Given the description of an element on the screen output the (x, y) to click on. 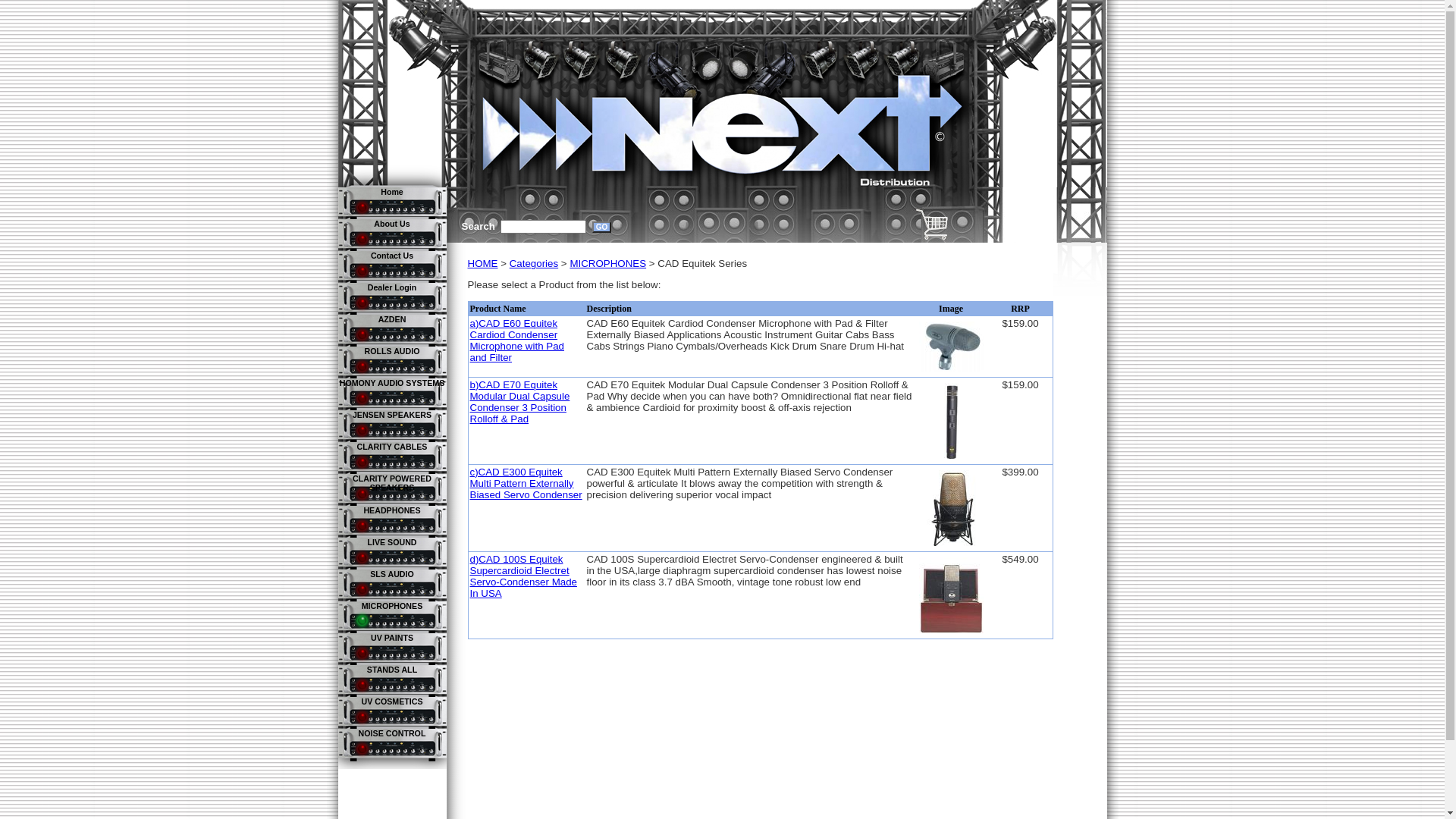
UV PAINTS Element type: text (391, 637)
UV COSMETICS Element type: text (391, 701)
CLARITY CABLES Element type: text (392, 446)
HOME Element type: text (482, 263)
SLS AUDIO Element type: text (392, 573)
CLARITY POWERED SPEAKERS Element type: text (391, 482)
MICROPHONES Element type: text (607, 263)
AZDEN Element type: text (392, 318)
Home Element type: text (391, 191)
Categories Element type: text (533, 263)
Contact Us Element type: text (391, 255)
NOISE CONTROL Element type: text (392, 732)
LIVE SOUND Element type: text (391, 541)
HOMONY AUDIO SYSTEMS Element type: text (392, 382)
GO Element type: text (601, 226)
Dealer Login Element type: text (392, 286)
MICROPHONES Element type: text (392, 605)
JENSEN SPEAKERS Element type: text (391, 414)
HEADPHONES Element type: text (391, 509)
About Us Element type: text (391, 223)
ROLLS AUDIO Element type: text (391, 350)
STANDS ALL Element type: text (392, 669)
